Given the description of an element on the screen output the (x, y) to click on. 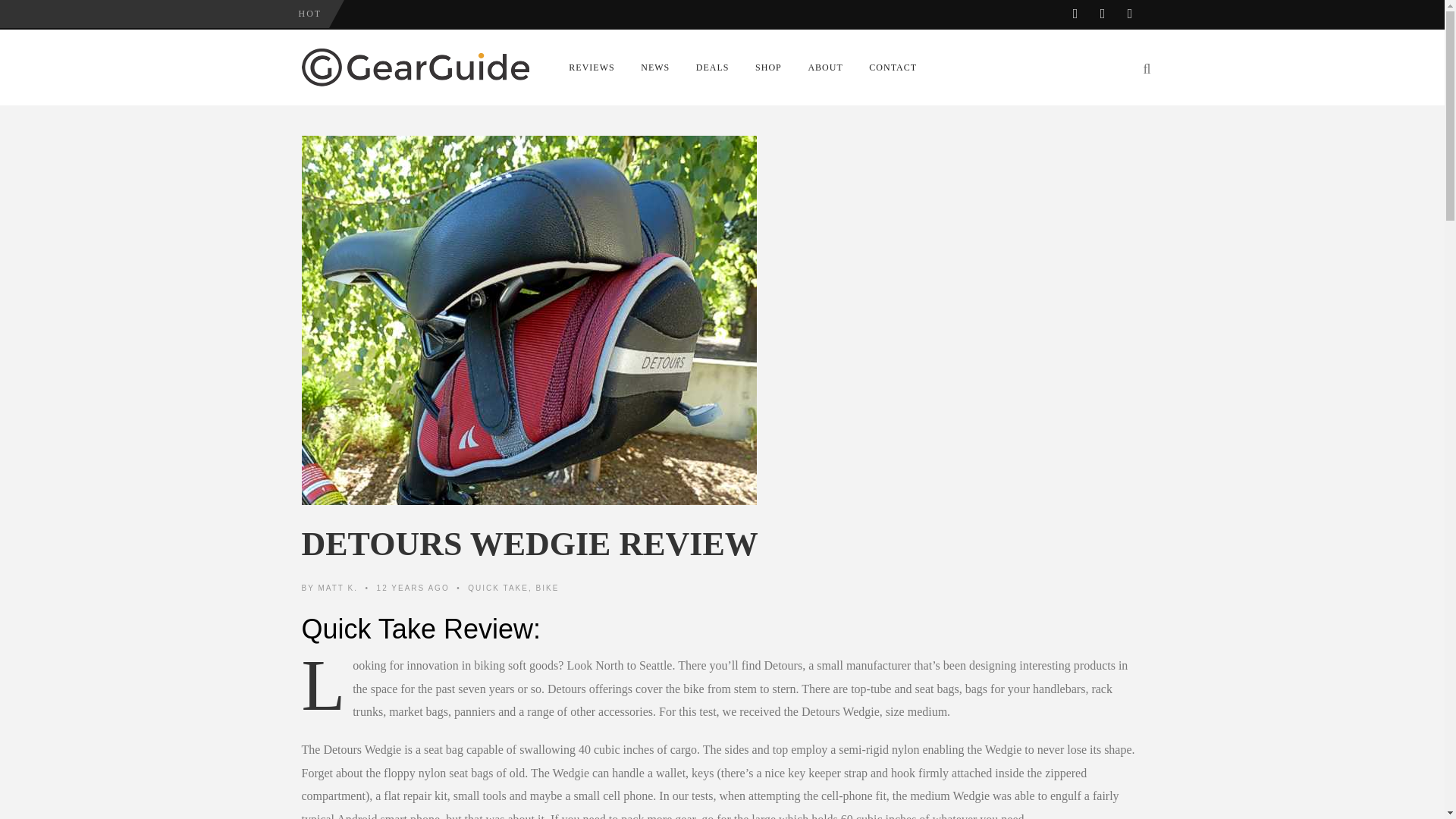
More Quick Take Posts (497, 587)
DEALS (711, 66)
REVIEWS (591, 66)
Posts by Matt K. (337, 587)
SHOP (767, 66)
ABOUT (825, 66)
NEWS (654, 66)
More Bike Posts (547, 587)
CONTACT (893, 66)
